Given the description of an element on the screen output the (x, y) to click on. 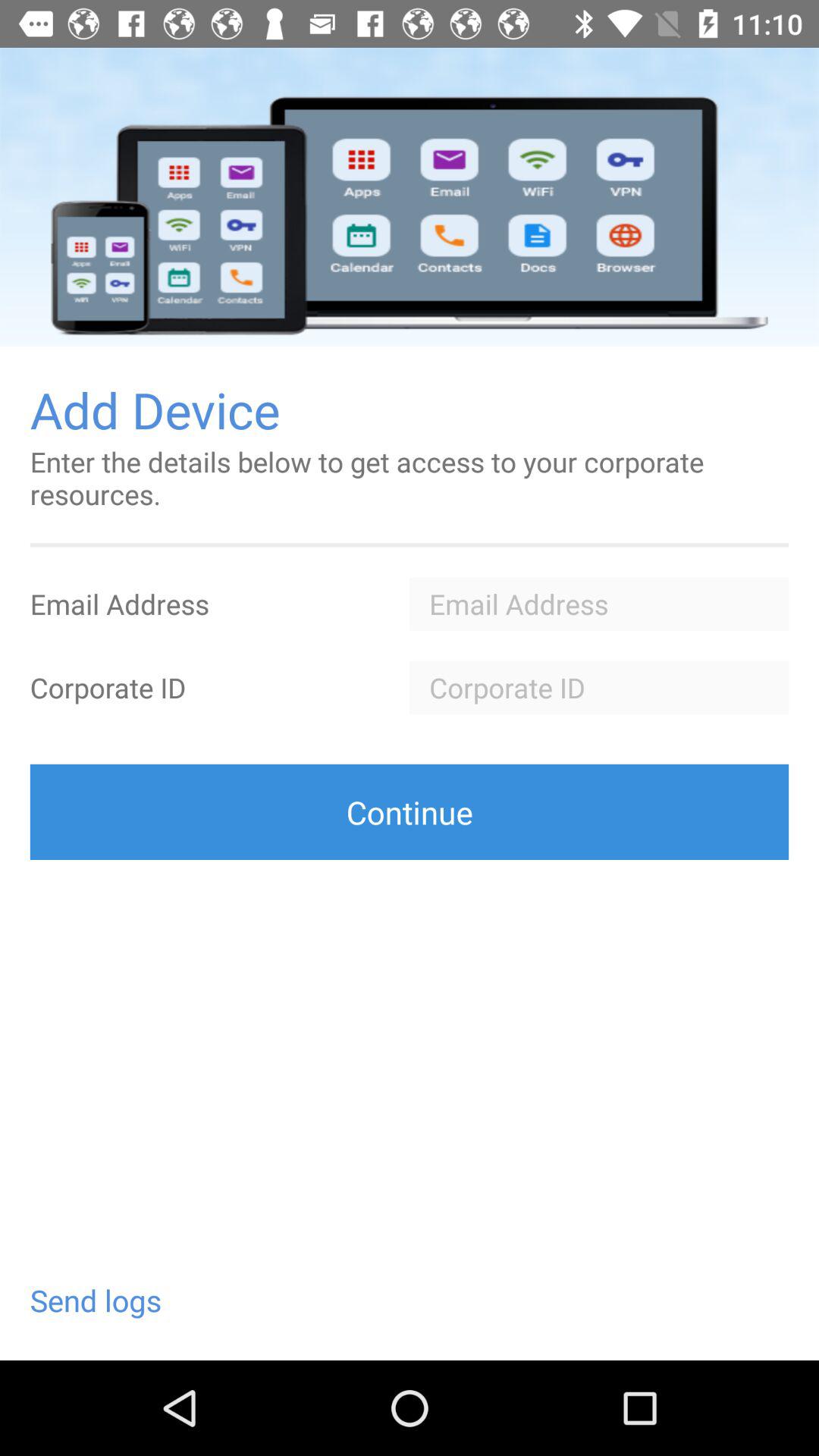
the field is used to type the username in (598, 603)
